Given the description of an element on the screen output the (x, y) to click on. 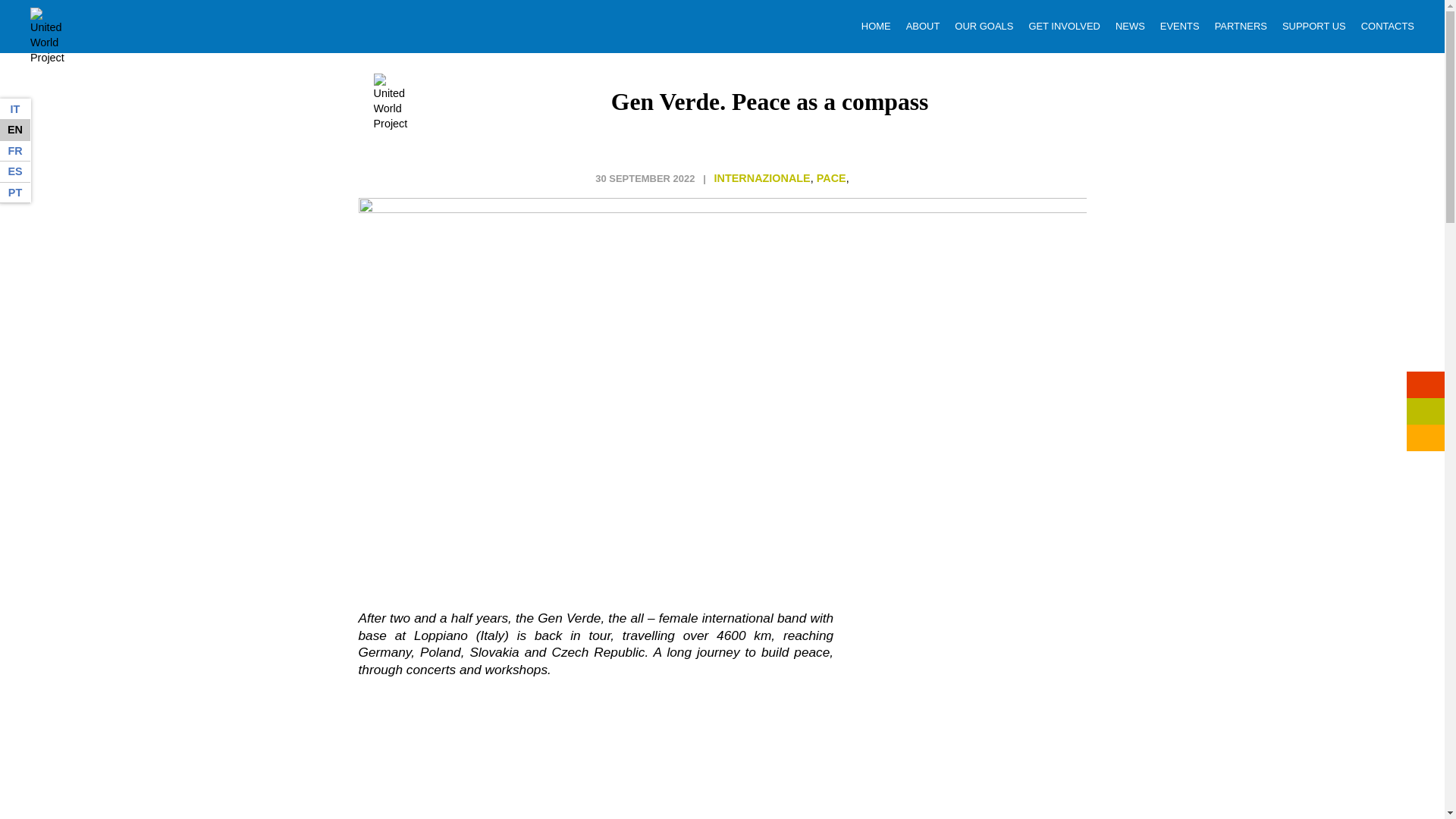
NEWS (1129, 25)
ES (15, 170)
EVENTS (1179, 25)
PACE (830, 177)
PARTNERS (1240, 25)
PT (15, 192)
IT (15, 108)
HOME (876, 25)
EN (15, 129)
FR (15, 150)
ABOUT (922, 25)
INTERNAZIONALE (762, 177)
GET INVOLVED (1063, 25)
CONTACTS (1387, 25)
OUR GOALS (984, 25)
